Given the description of an element on the screen output the (x, y) to click on. 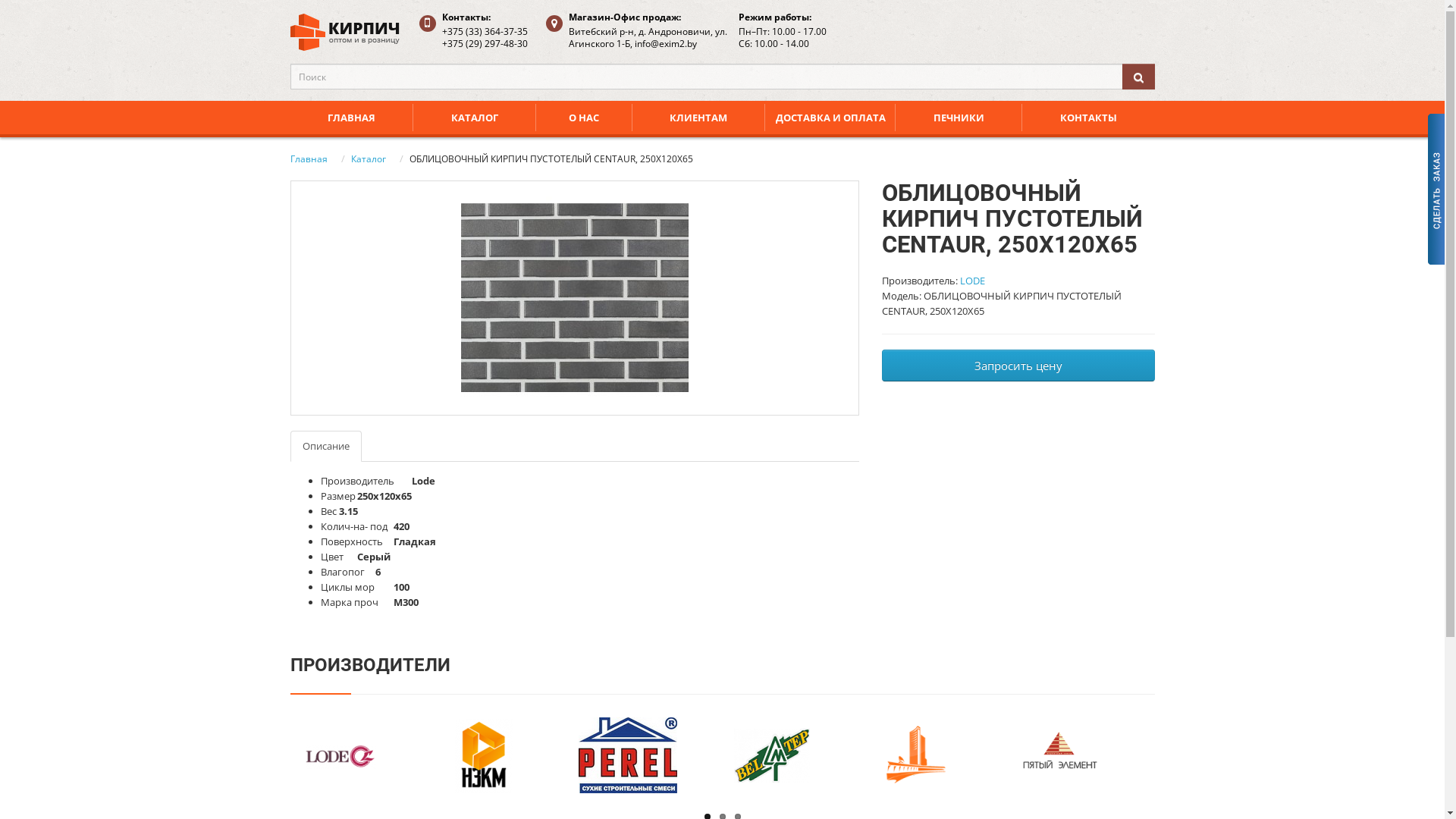
LODE Element type: text (972, 280)
